Given the description of an element on the screen output the (x, y) to click on. 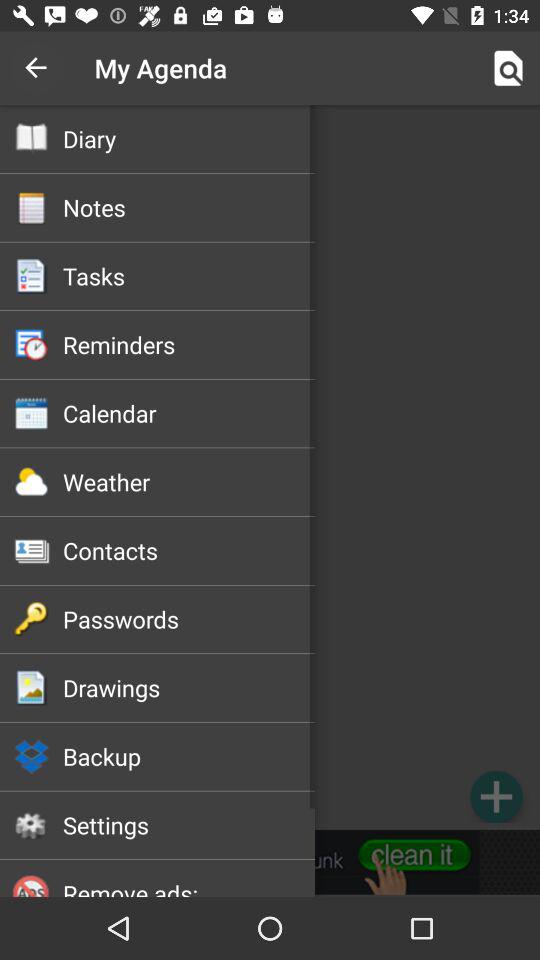
add new note (496, 796)
